Given the description of an element on the screen output the (x, y) to click on. 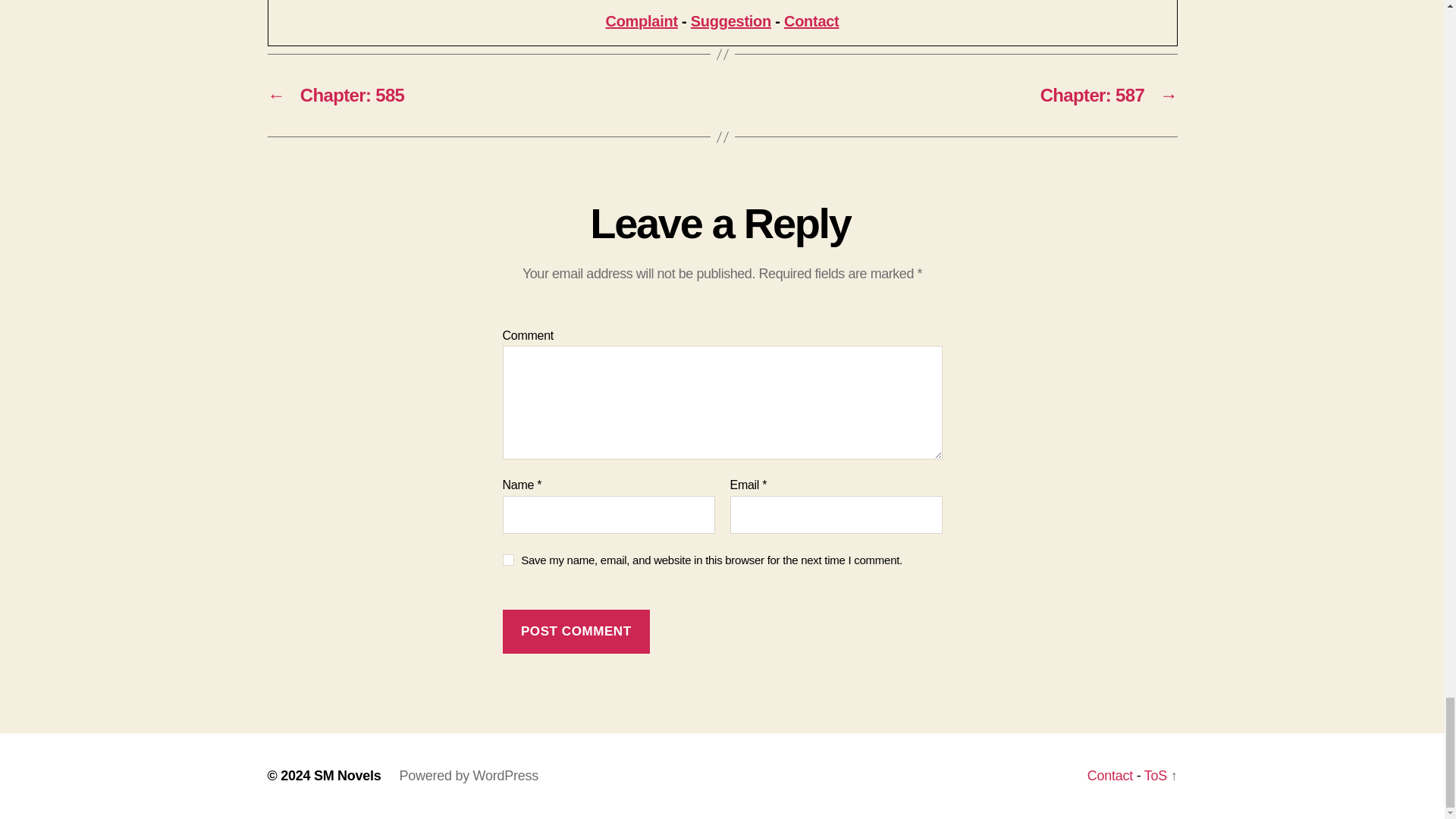
Please wait until Google reCAPTCHA is loaded. (575, 631)
Post Comment (575, 631)
yes (507, 559)
